Given the description of an element on the screen output the (x, y) to click on. 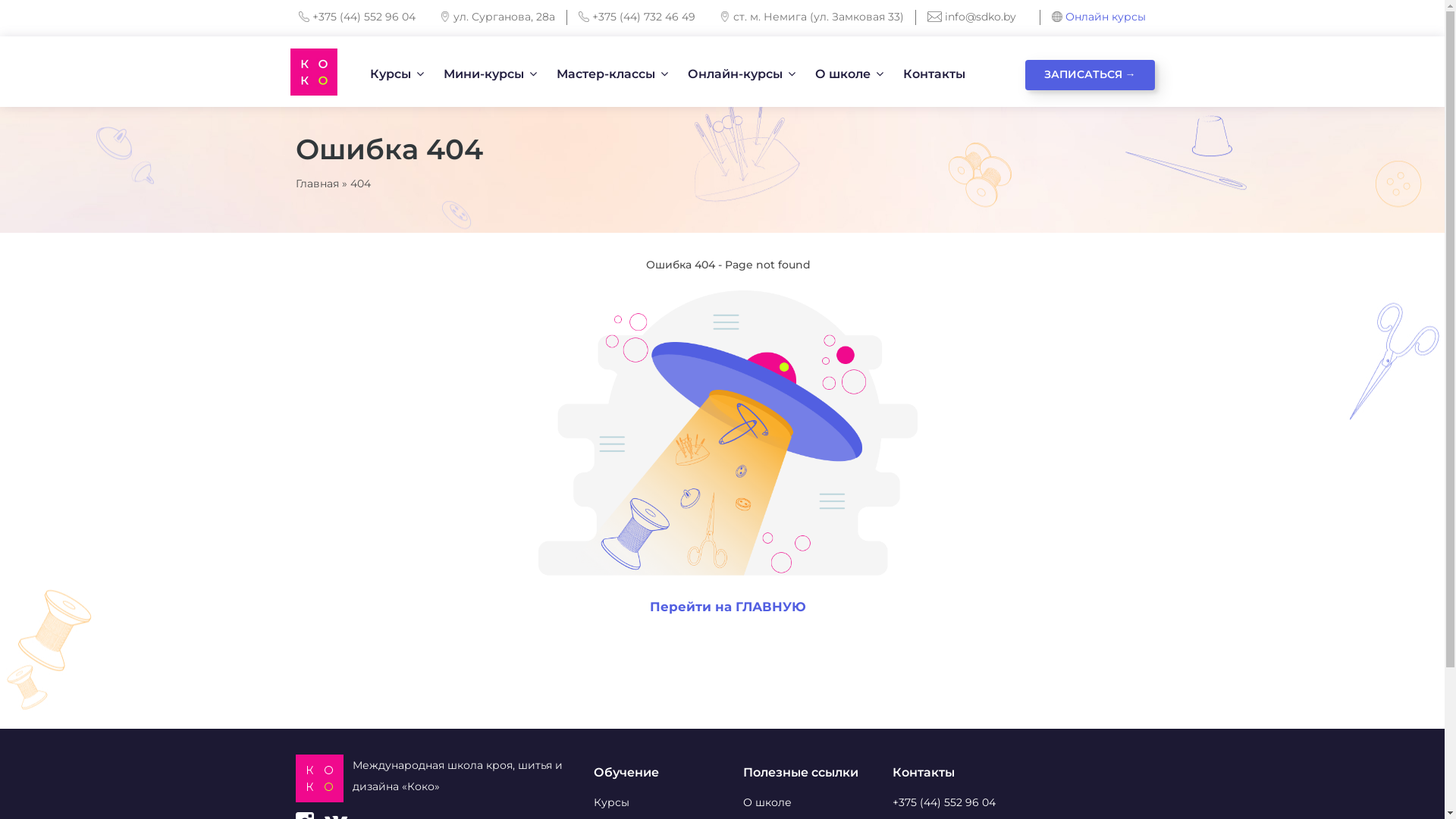
+375 (44) 552 96 04 Element type: text (363, 16)
info@sdko.by Element type: text (980, 16)
+375 (44) 732 46 49 Element type: text (643, 16)
